Given the description of an element on the screen output the (x, y) to click on. 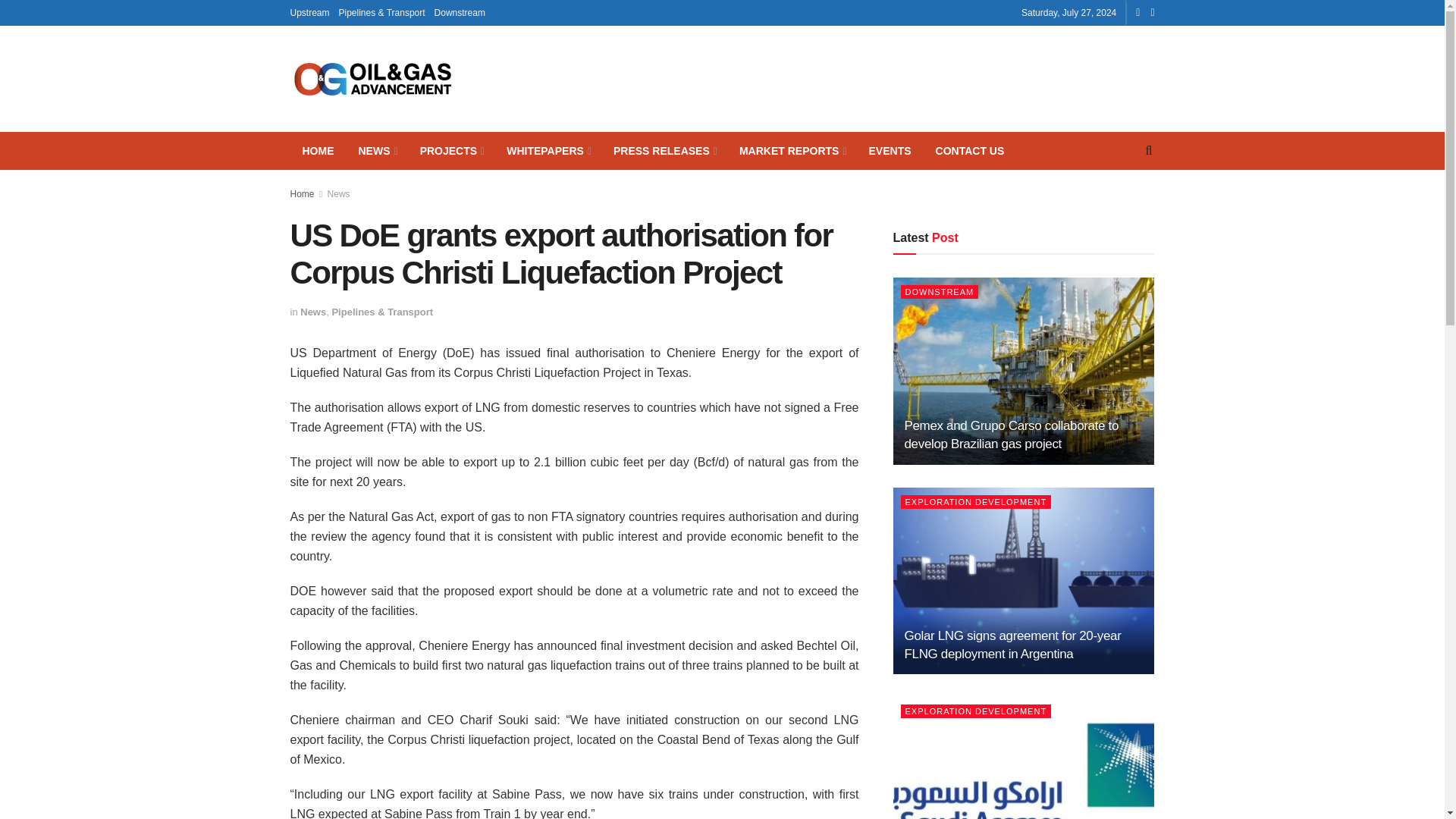
NEWS (376, 150)
Upstream (309, 12)
HOME (317, 150)
PROJECTS (451, 150)
Downstream (458, 12)
